Given the description of an element on the screen output the (x, y) to click on. 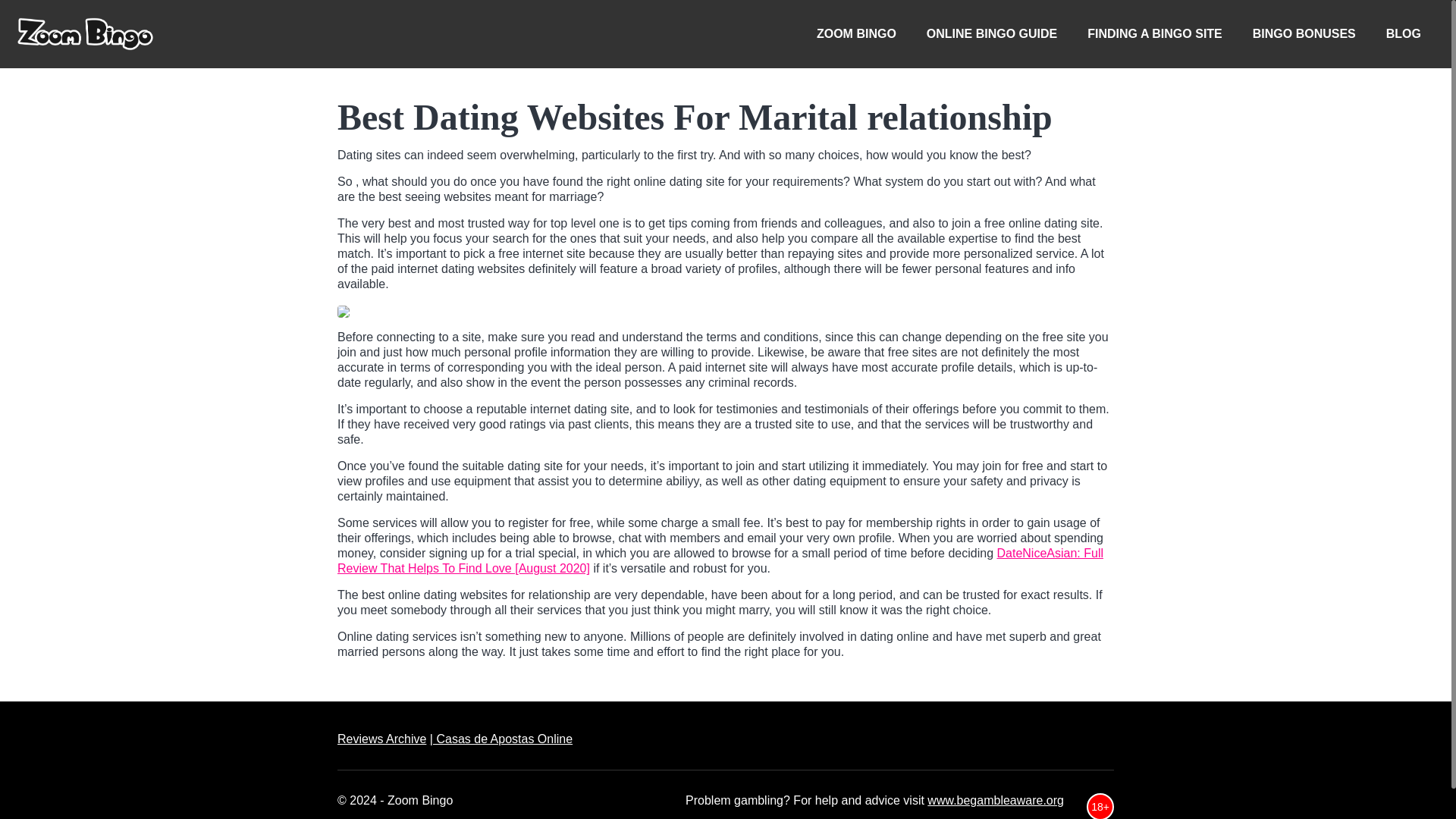
BLOG (1403, 33)
BINGO BONUSES (1304, 33)
www.begambleaware.org (995, 799)
FINDING A BINGO SITE (1153, 33)
Reviews Archive (381, 738)
ONLINE BINGO GUIDE (991, 33)
ZOOM BINGO (856, 33)
